Given the description of an element on the screen output the (x, y) to click on. 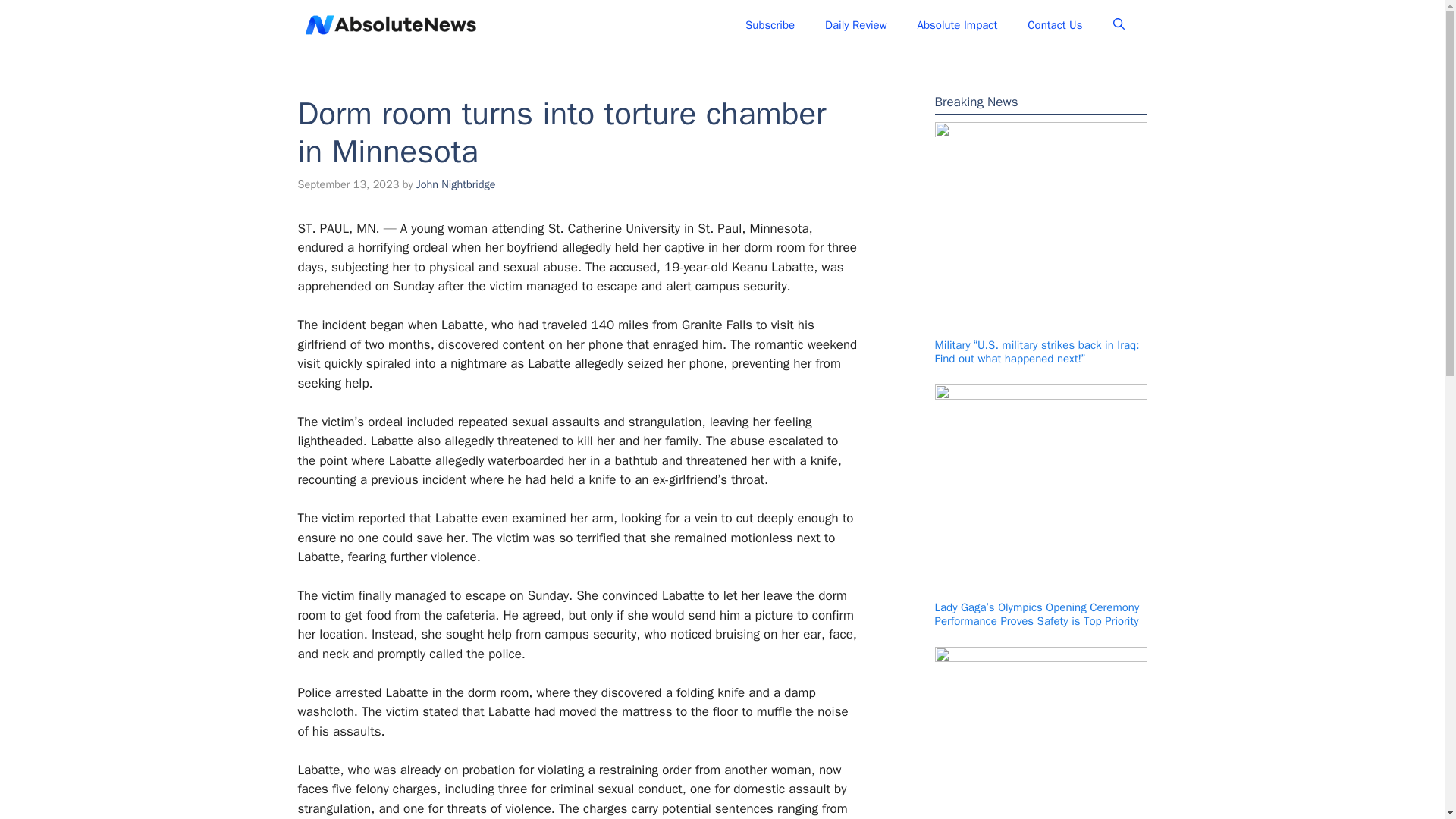
Daily Review (855, 23)
View all posts by John Nightbridge (456, 183)
John Nightbridge (456, 183)
Subscribe (769, 23)
Contact Us (1054, 23)
Absolute News (545, 24)
Absolute News (390, 24)
Absolute Impact (957, 23)
